Given the description of an element on the screen output the (x, y) to click on. 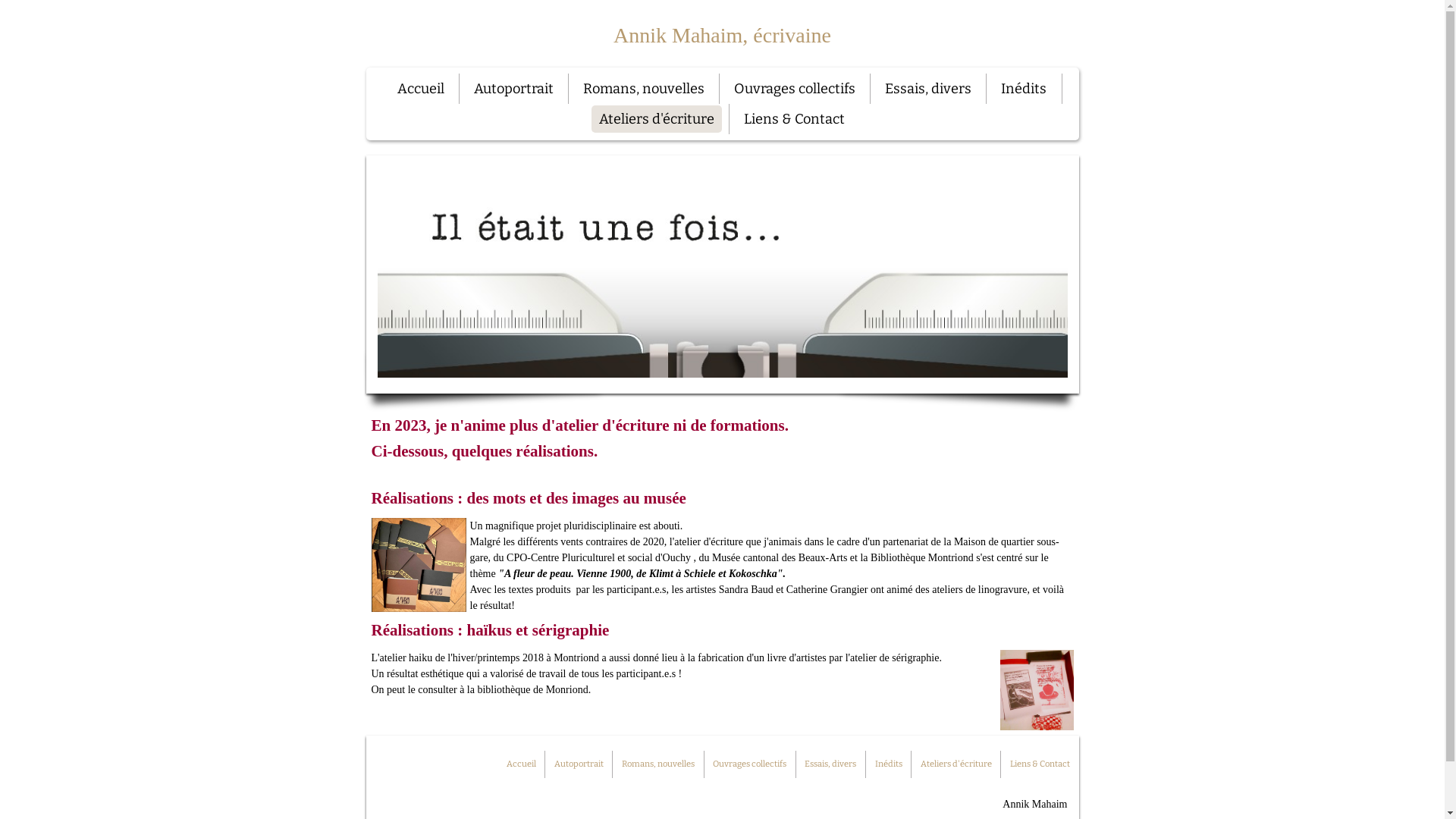
Liens & Contact Element type: text (1039, 763)
Ouvrages collectifs Element type: text (749, 763)
Romans, nouvelles Element type: text (643, 88)
Liens & Contact Element type: text (794, 118)
Autoportrait Element type: text (513, 88)
Accueil Element type: text (420, 88)
Ouvrages collectifs Element type: text (794, 88)
Essais, divers Element type: text (928, 88)
Romans, nouvelles Element type: text (658, 763)
Autoportrait Element type: text (578, 763)
Accueil Element type: text (521, 763)
Essais, divers Element type: text (830, 763)
